Given the description of an element on the screen output the (x, y) to click on. 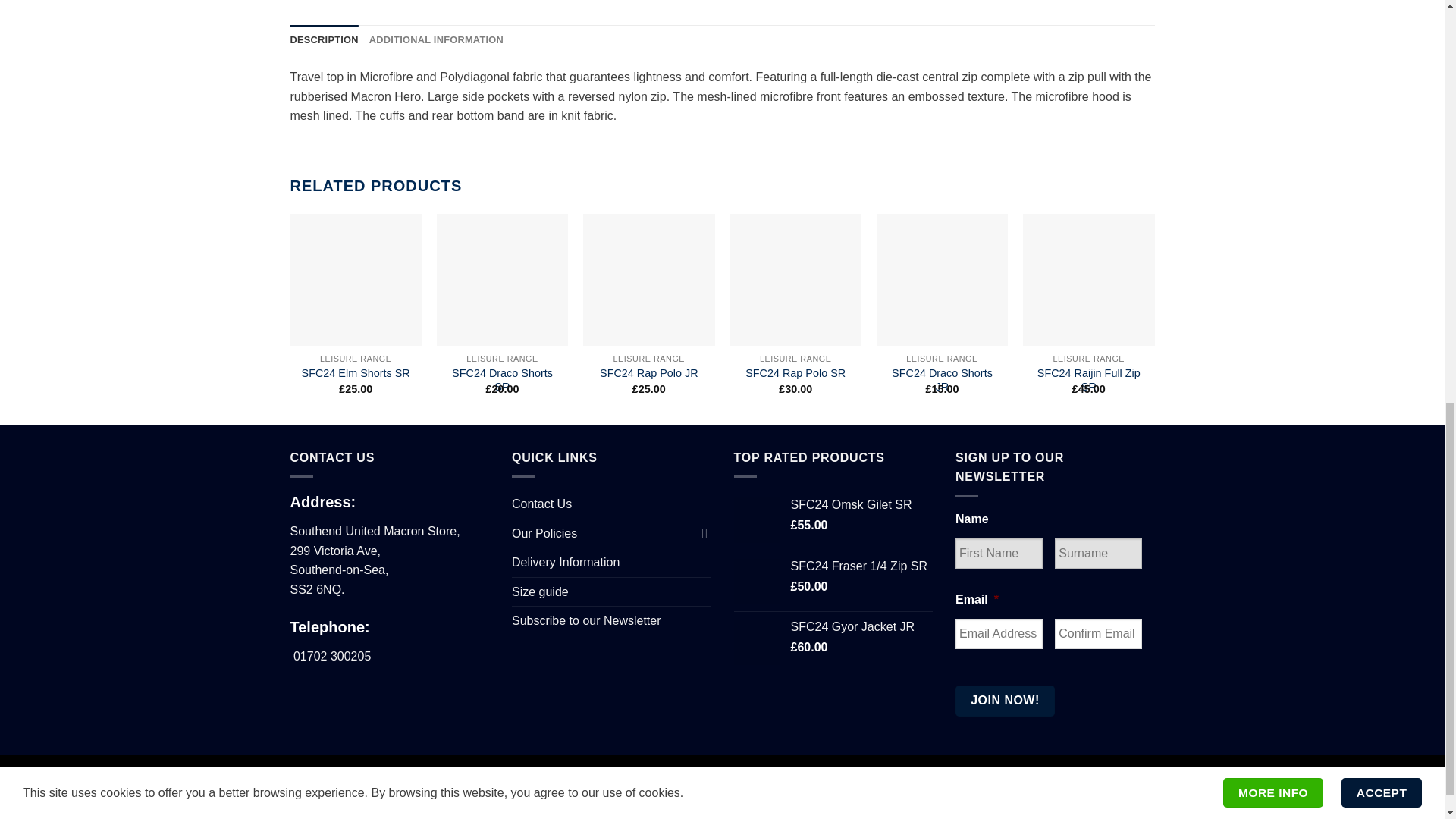
Join Now! (1004, 700)
